Given the description of an element on the screen output the (x, y) to click on. 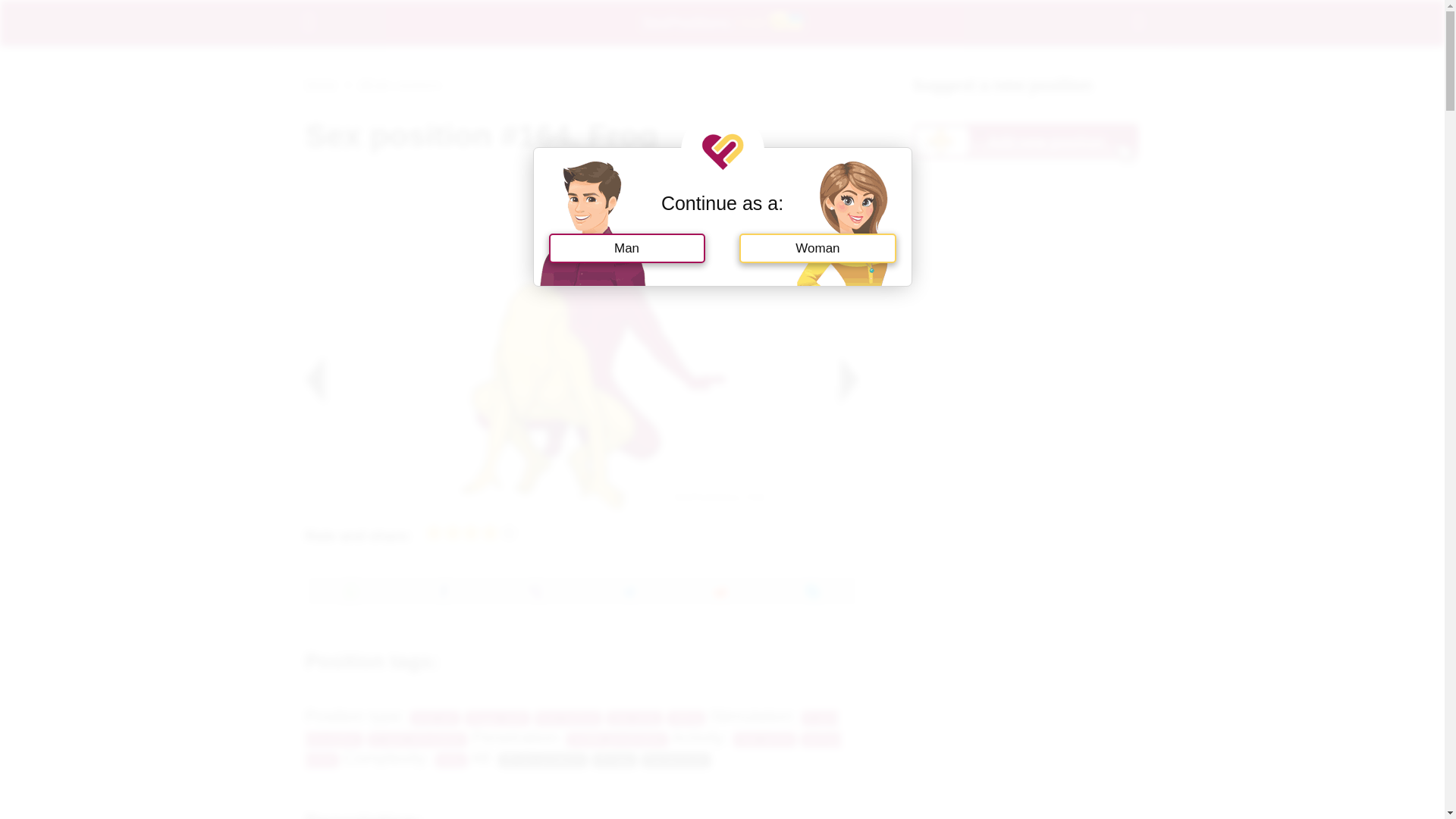
doggy style (496, 718)
Home (320, 83)
easy (451, 759)
anal sex (435, 718)
woman active (572, 750)
sitting (685, 718)
middle penetration (616, 739)
G-spot stimulation (417, 739)
All tags (614, 759)
A-spot stimulation (571, 728)
man active (764, 739)
All sex positions (400, 83)
rear entry (634, 718)
All sex positions (542, 759)
Randomizer (676, 759)
